Given the description of an element on the screen output the (x, y) to click on. 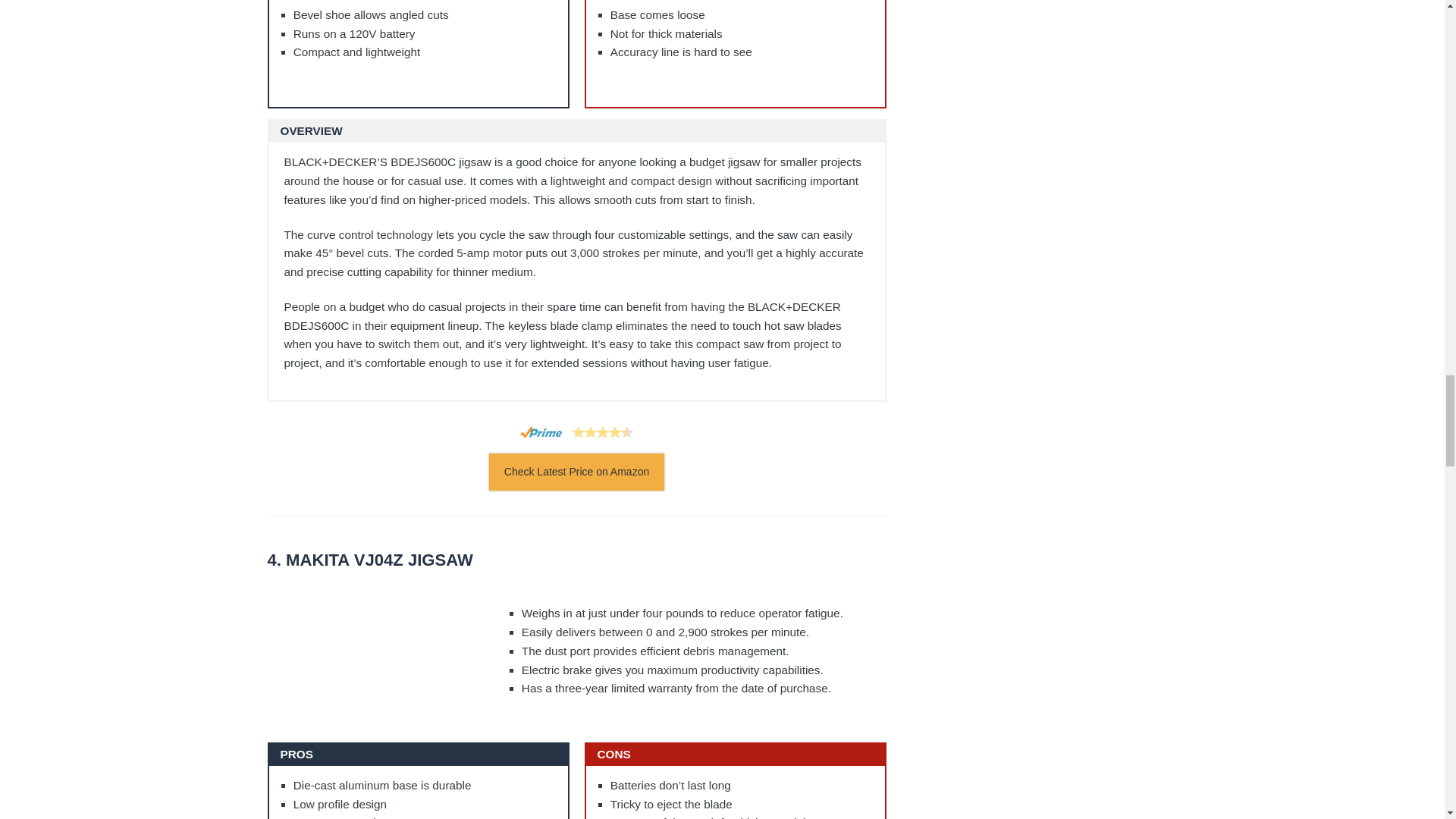
Makita VJ04Z Jigsaw (575, 560)
Check Latest Price on Amazon (576, 471)
Check Latest Price on Amazon (576, 471)
